Given the description of an element on the screen output the (x, y) to click on. 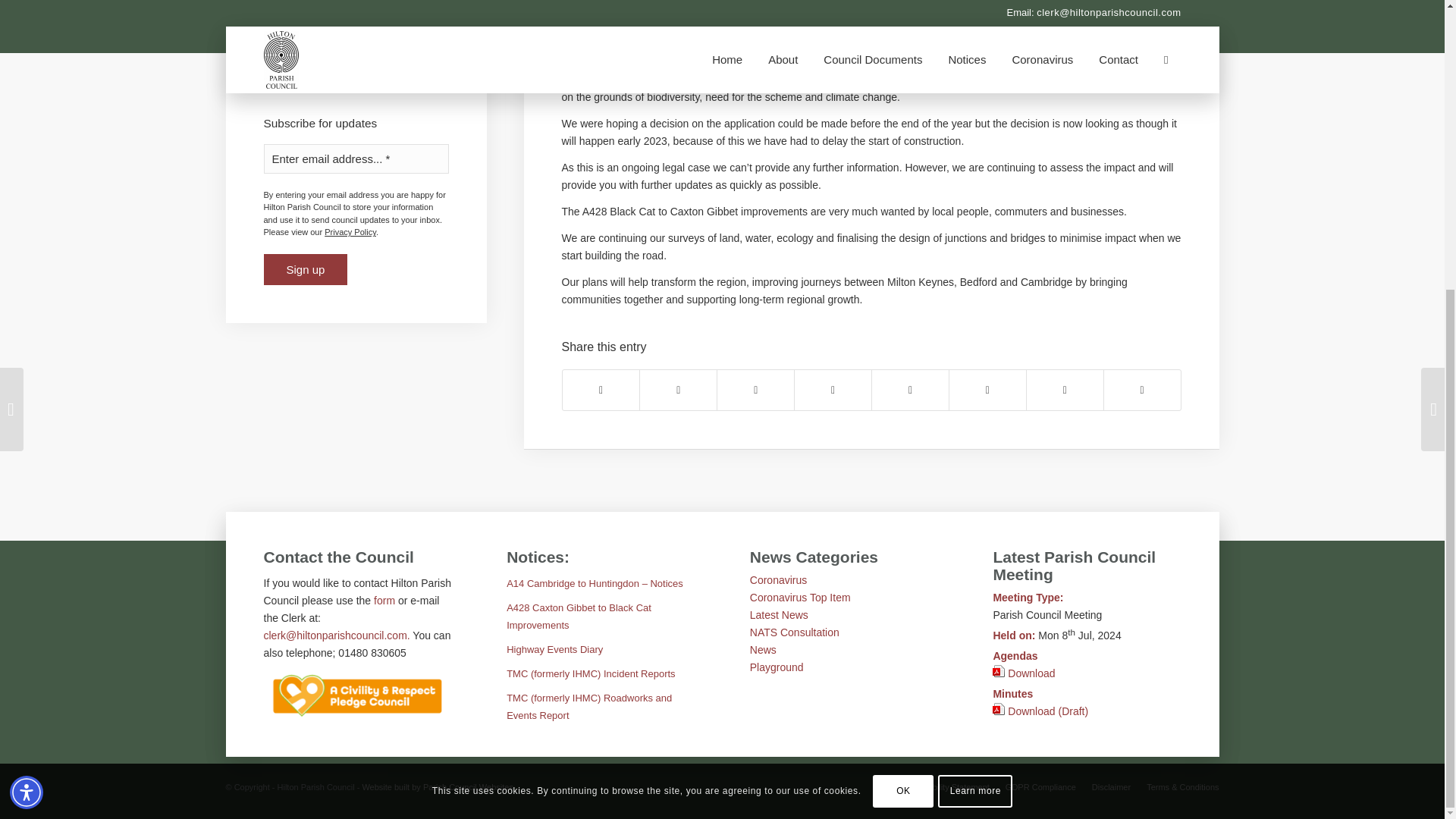
Accessibility Menu (26, 352)
Sign up (305, 269)
